Given the description of an element on the screen output the (x, y) to click on. 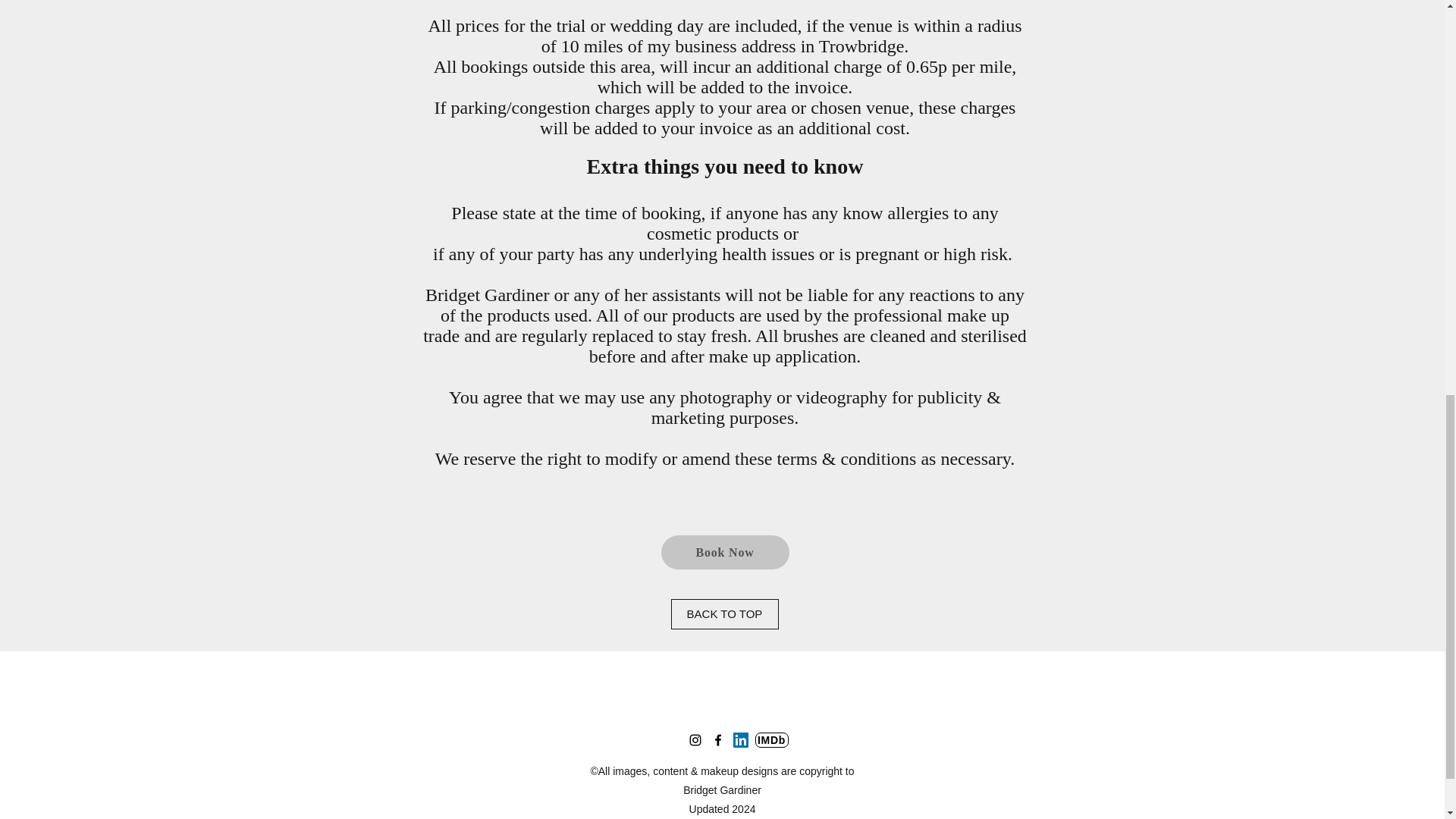
BACK TO TOP (723, 613)
IMDb (772, 739)
Book Now (725, 552)
